Given the description of an element on the screen output the (x, y) to click on. 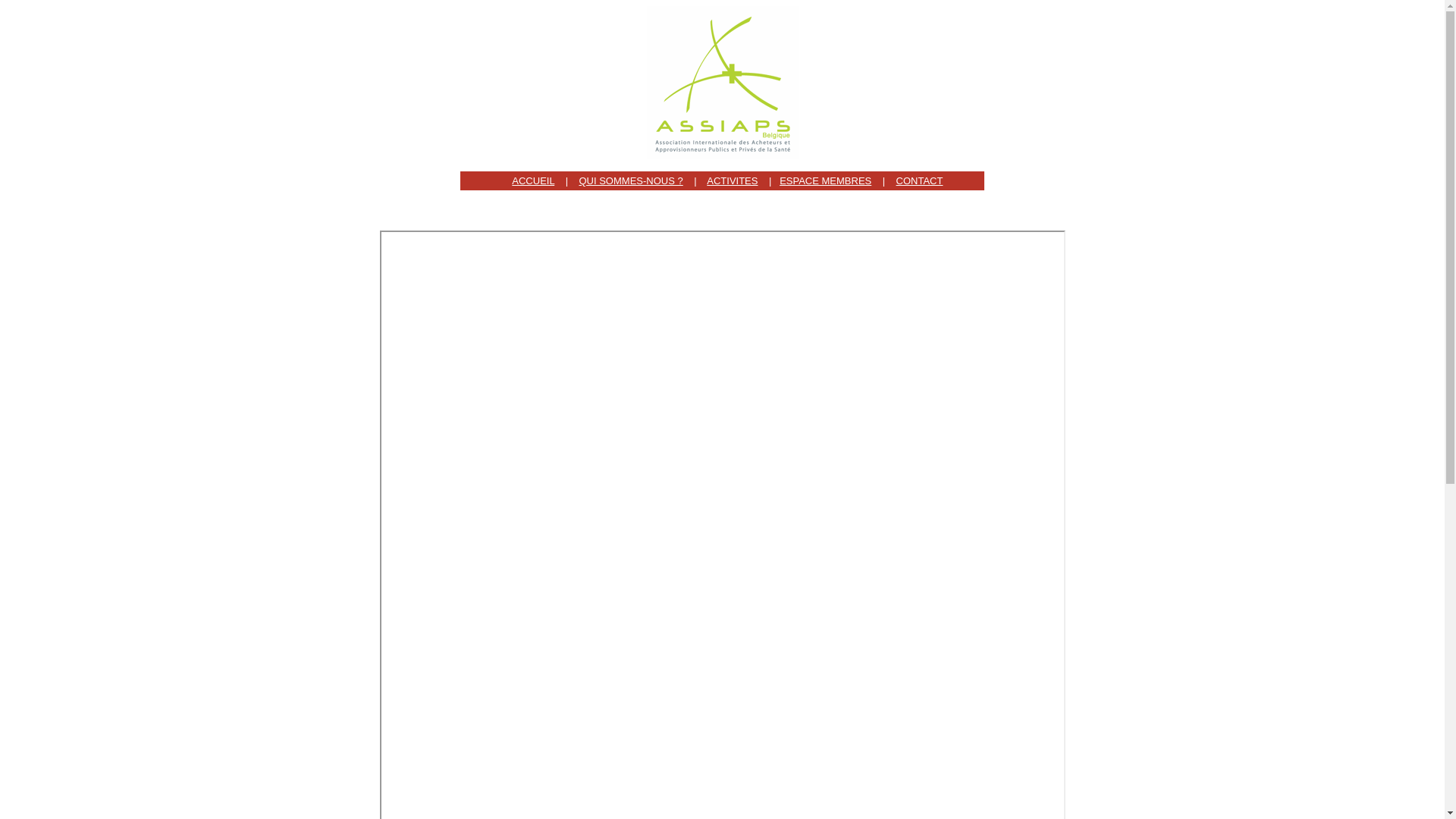
ESPACE MEMBRES Element type: text (825, 180)
CONTACT Element type: text (919, 180)
QUI SOMMES-NOUS ? Element type: text (630, 180)
ACTIVITES Element type: text (731, 180)
ACCUEIL Element type: text (532, 180)
